Given the description of an element on the screen output the (x, y) to click on. 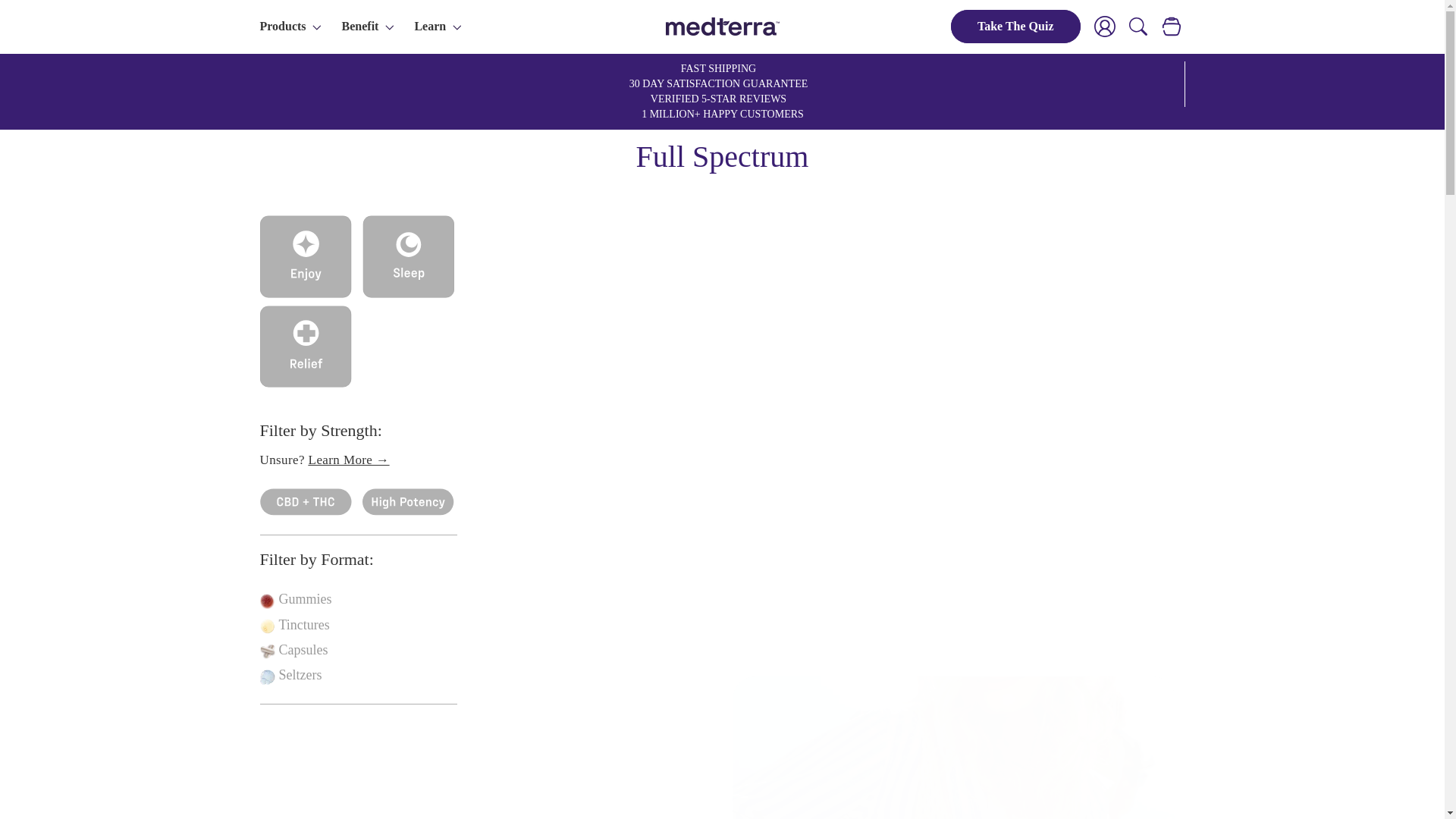
Gummies (261, 602)
Capsules (261, 653)
Relief (261, 316)
Tinctures (261, 627)
High Potency (360, 499)
Seltzers (261, 677)
Skip to content (45, 17)
Enjoy (261, 226)
Sleep (360, 226)
